Given the description of an element on the screen output the (x, y) to click on. 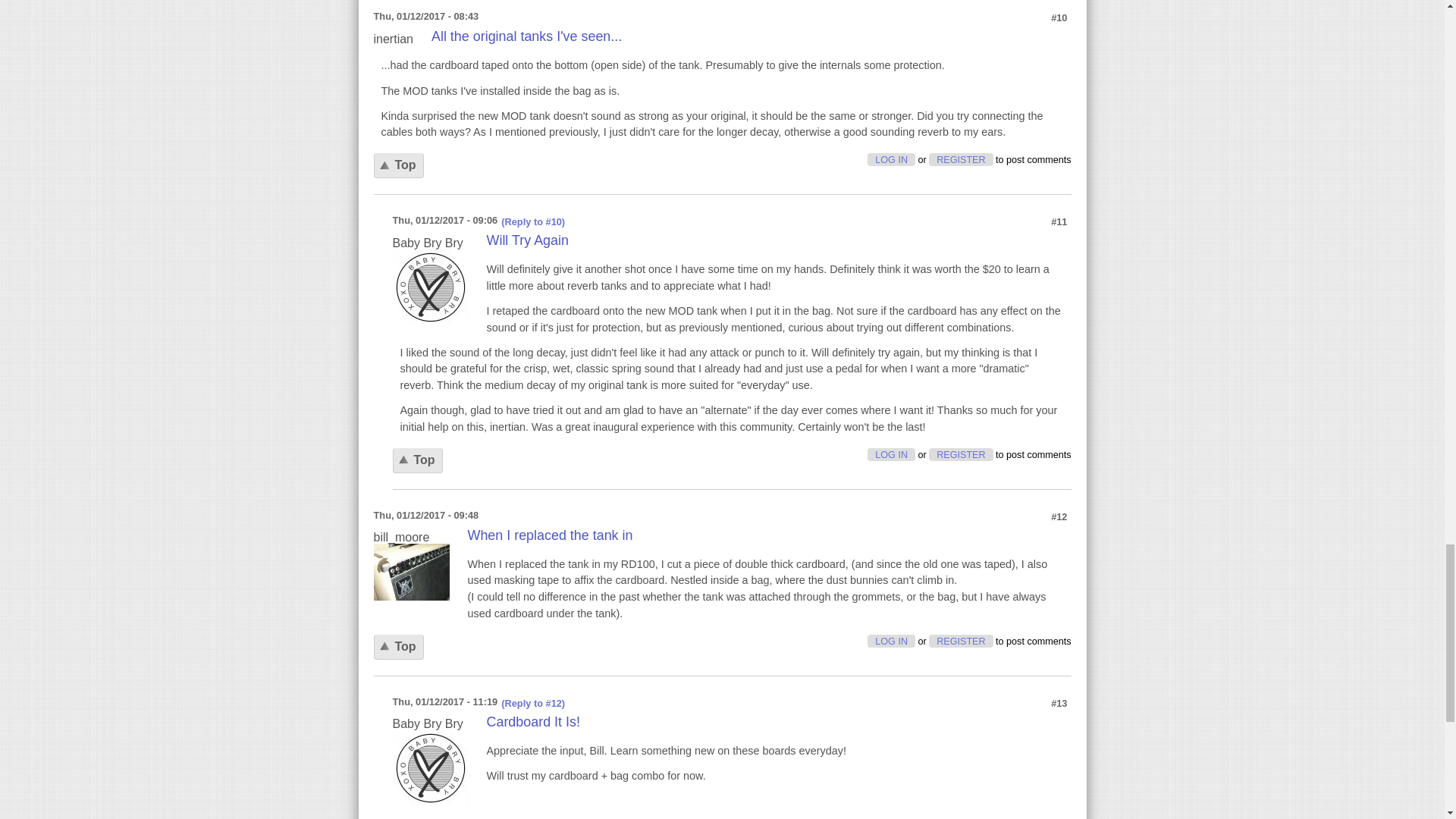
Jump to top of page (397, 165)
